Given the description of an element on the screen output the (x, y) to click on. 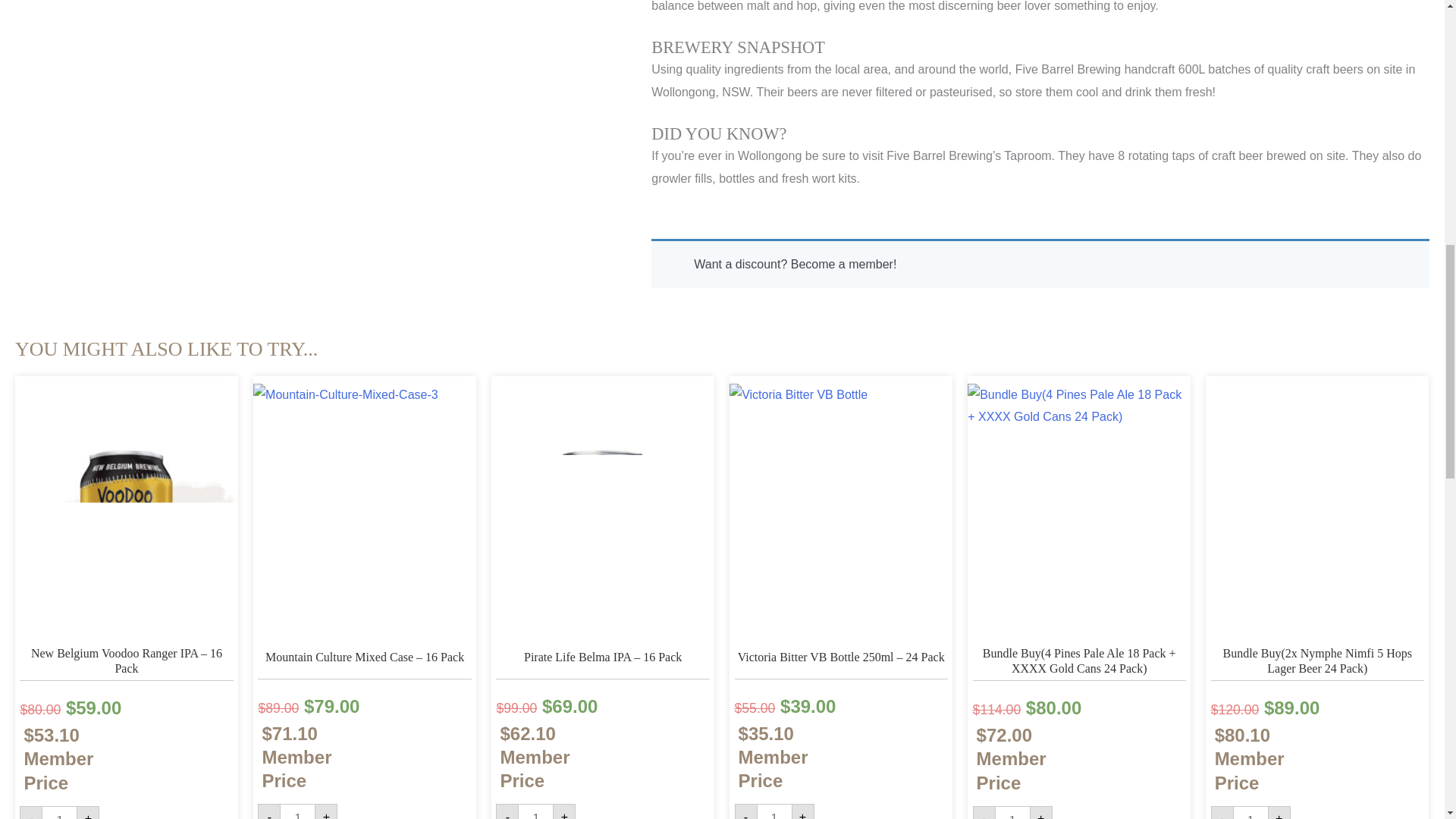
Qty (59, 812)
Qty (1012, 812)
1 (1012, 812)
1 (535, 811)
Qty (297, 811)
1 (297, 811)
Qty (774, 811)
1 (1250, 812)
Qty (1250, 812)
1 (59, 812)
